Given the description of an element on the screen output the (x, y) to click on. 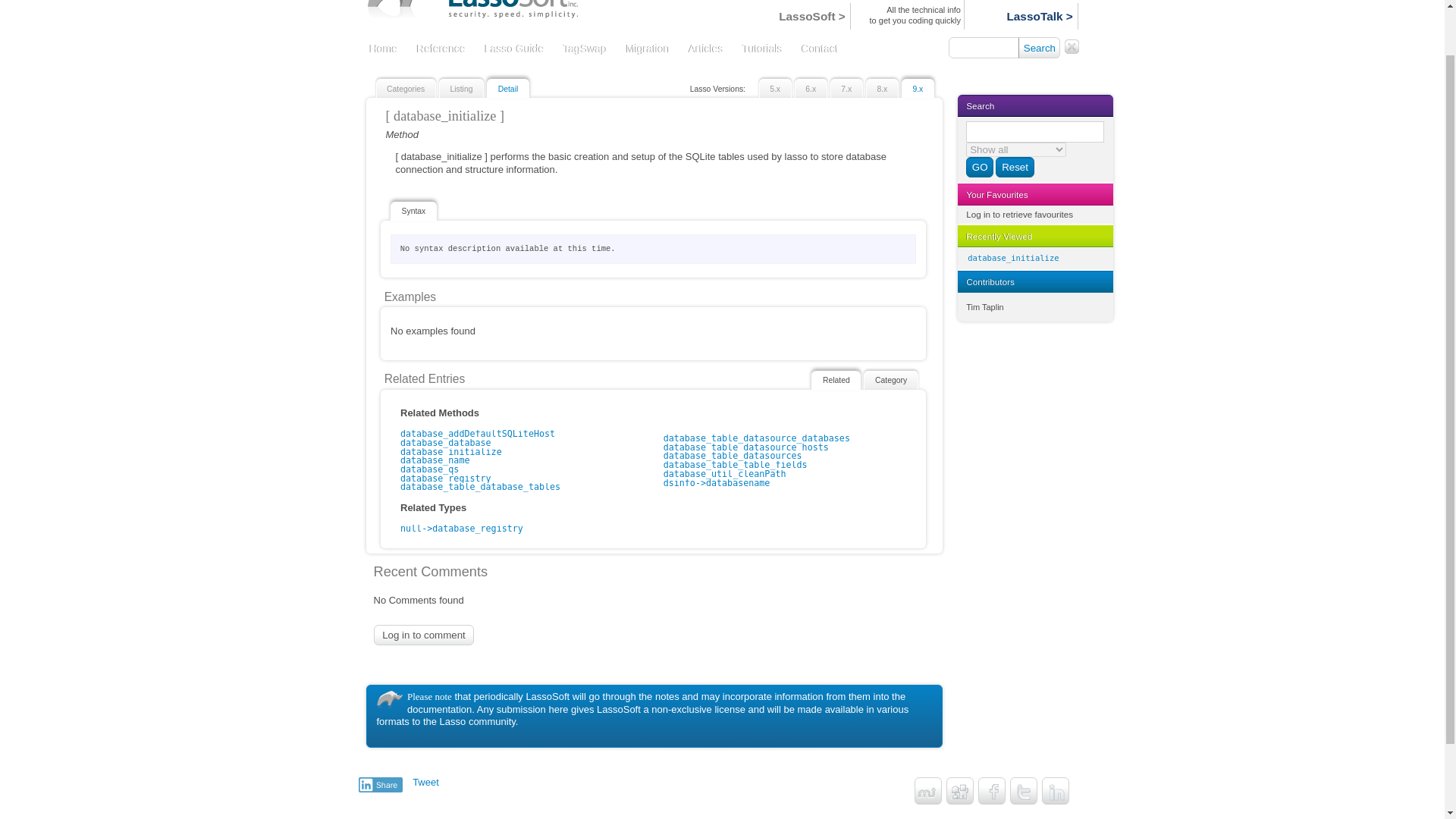
Language Reference (441, 50)
Reference (441, 50)
Search (1038, 47)
Lasso Guide (514, 50)
Return to the Lasso Soft Home Page (478, 15)
Search (1038, 47)
Return to the LassoDocs Home Page (383, 50)
Home (383, 50)
Clear Search (1070, 46)
Reset (1014, 167)
Lasso Language Guide (514, 50)
GO (979, 167)
